Given the description of an element on the screen output the (x, y) to click on. 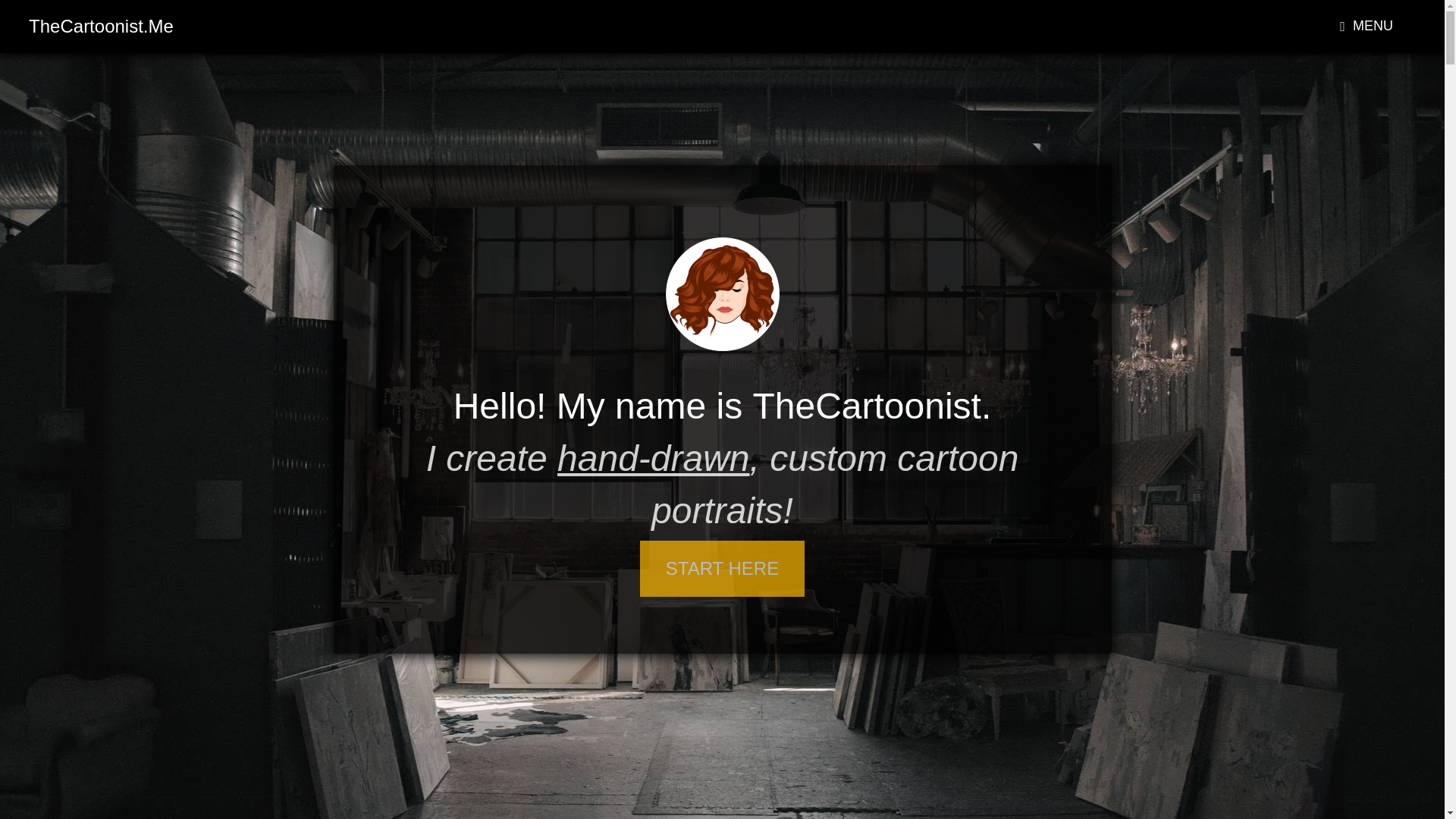
START HERE (722, 568)
